Given the description of an element on the screen output the (x, y) to click on. 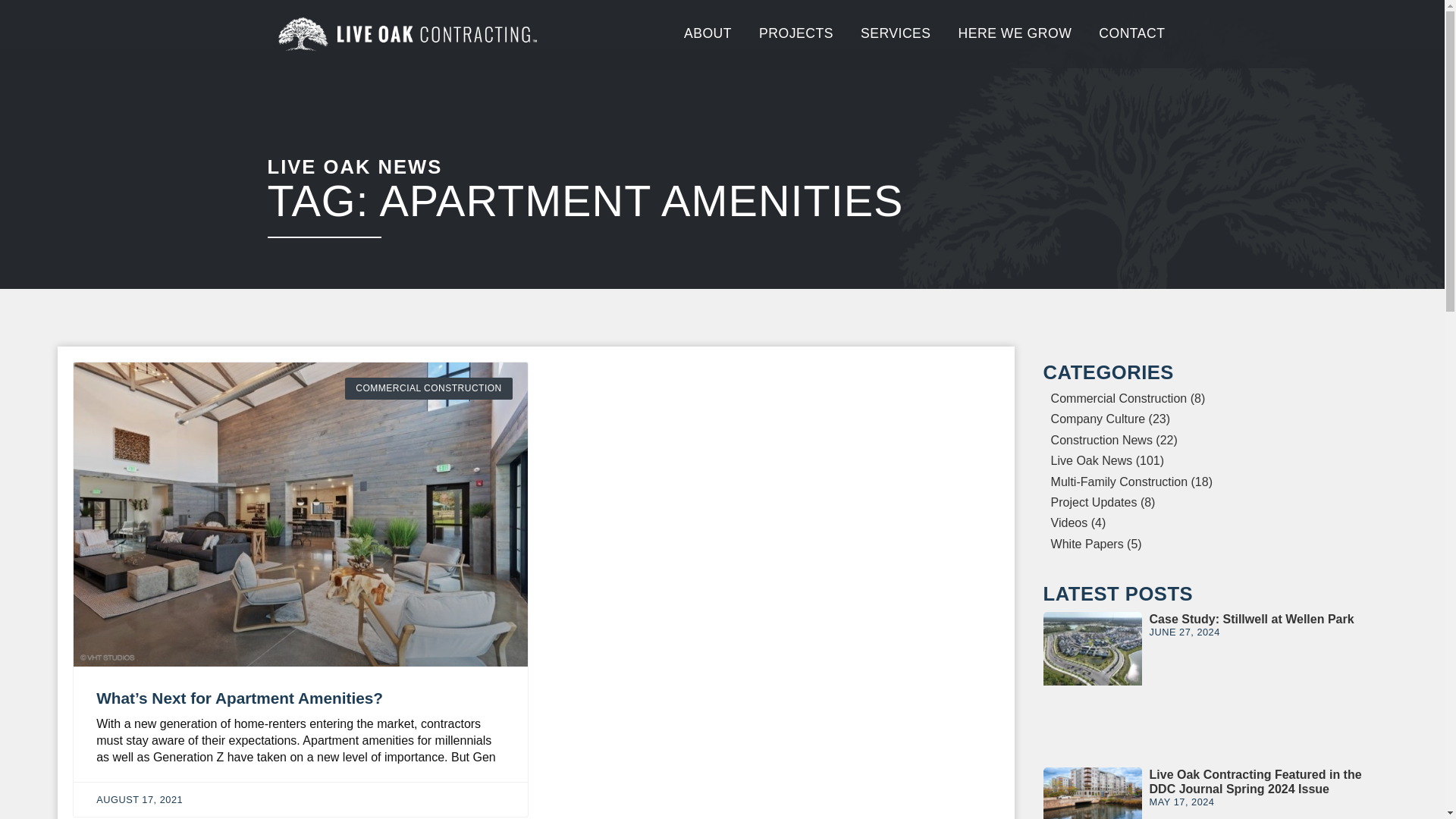
PROJECTS (795, 33)
HERE WE GROW (1015, 33)
SERVICES (895, 33)
ABOUT (707, 33)
CONTACT (1131, 33)
